Given the description of an element on the screen output the (x, y) to click on. 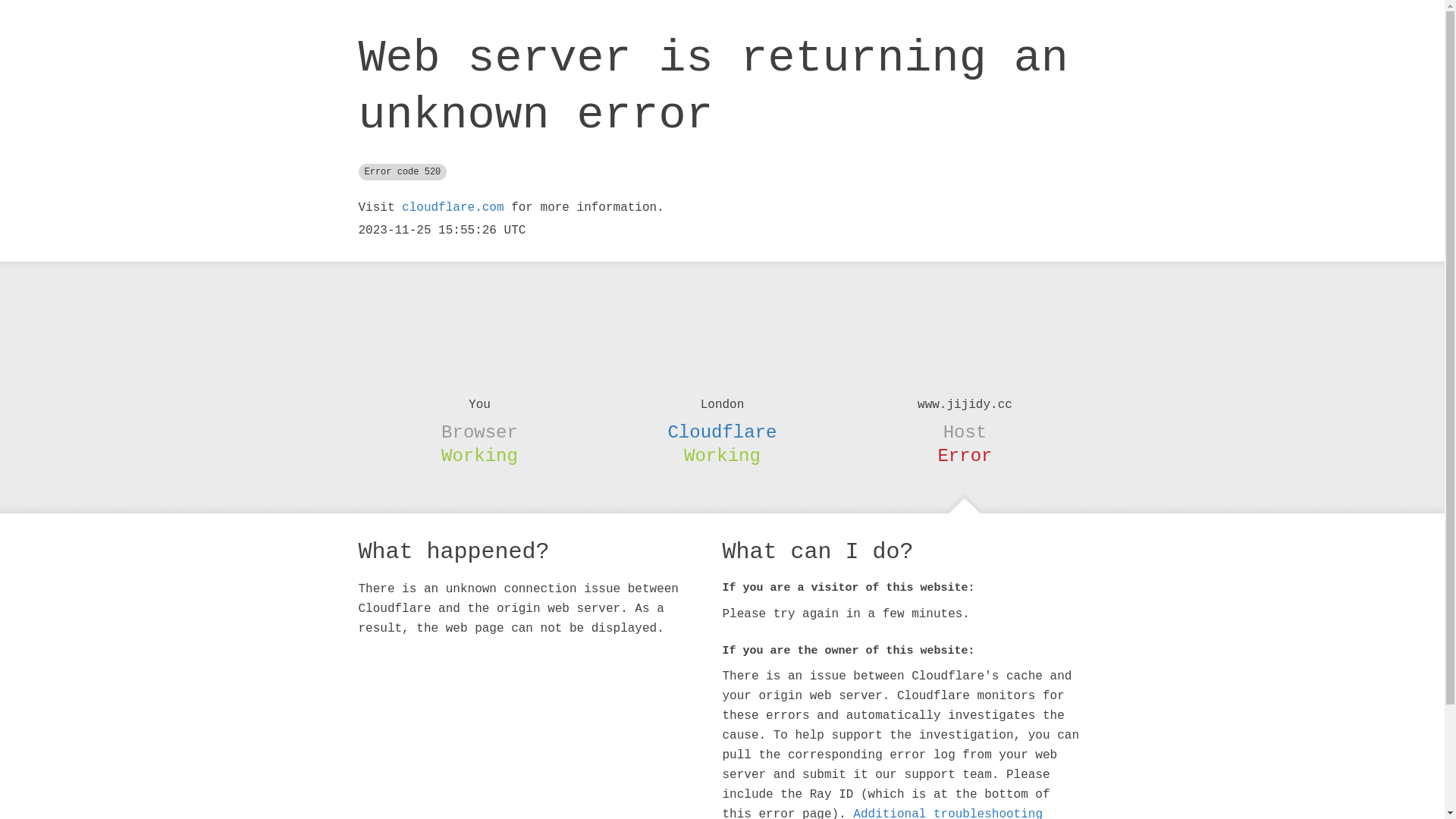
cloudflare.com Element type: text (452, 207)
Cloudflare Element type: text (721, 432)
